Given the description of an element on the screen output the (x, y) to click on. 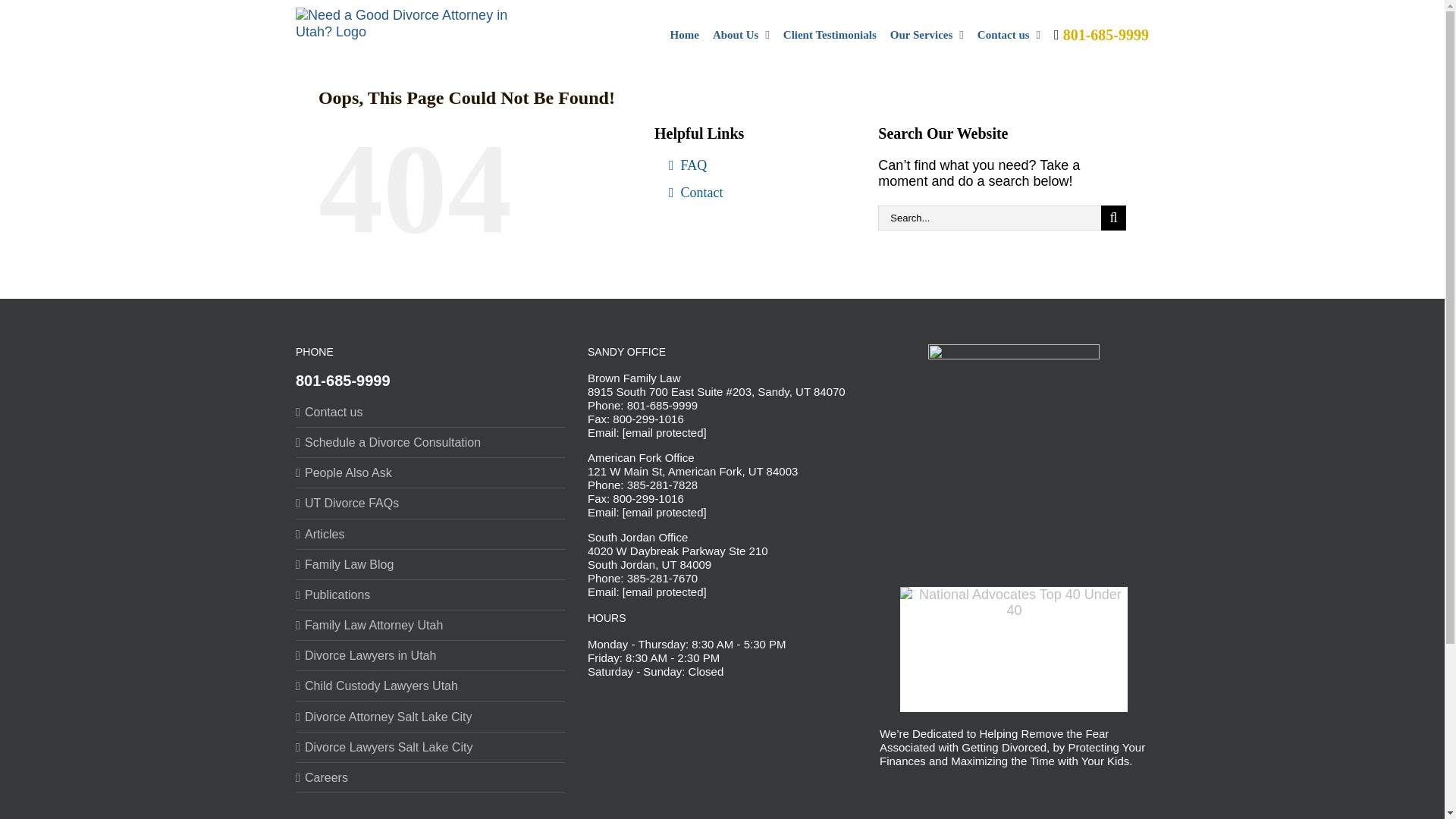
Family Law Attorney Utah (430, 625)
Divorce Lawyers Salt Lake City (430, 747)
Contact us (1008, 33)
Child Custody Lawyers Utah (430, 685)
801-685-9999 (1101, 33)
Contact (753, 198)
Divorce Attorney Salt Lake City (430, 716)
Divorce Lawyers in Utah (430, 655)
UT Divorce FAQs (430, 503)
Careers (430, 777)
